Given the description of an element on the screen output the (x, y) to click on. 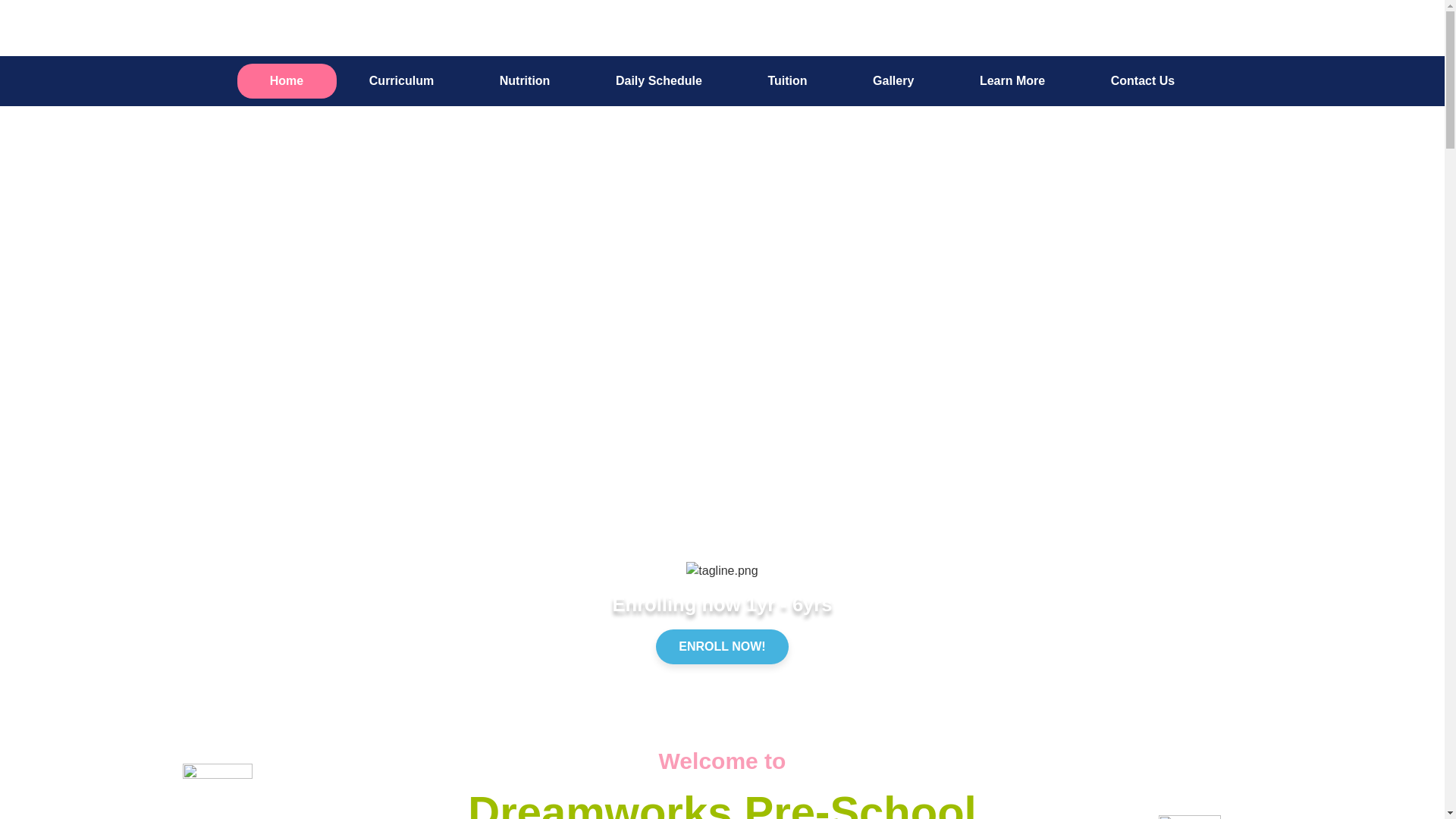
ENROLL NOW! (721, 646)
Daily Schedule (659, 80)
Home (285, 80)
Contact Us (1142, 80)
Curriculum (401, 80)
tagline.png (721, 570)
Tuition (787, 80)
Learn More (1012, 80)
Nutrition (523, 80)
Gallery (893, 80)
